Given the description of an element on the screen output the (x, y) to click on. 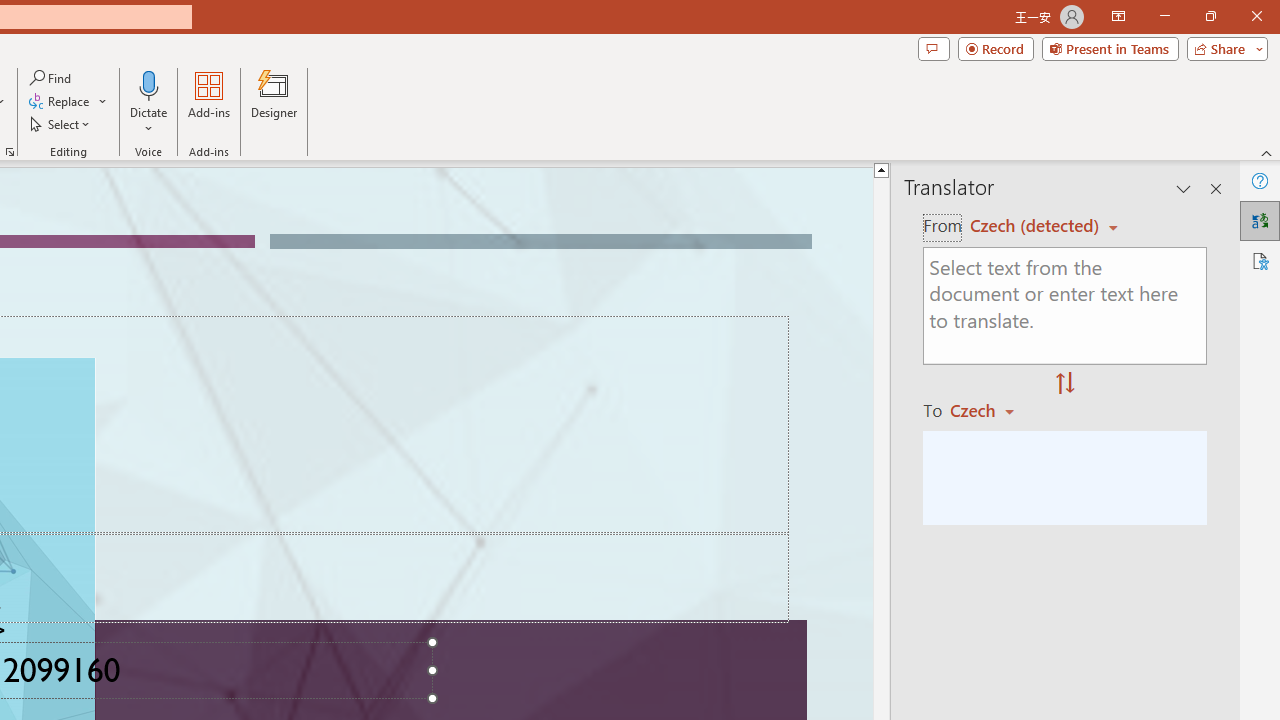
Czech (detected) (1037, 225)
Swap "from" and "to" languages. (1065, 383)
